Given the description of an element on the screen output the (x, y) to click on. 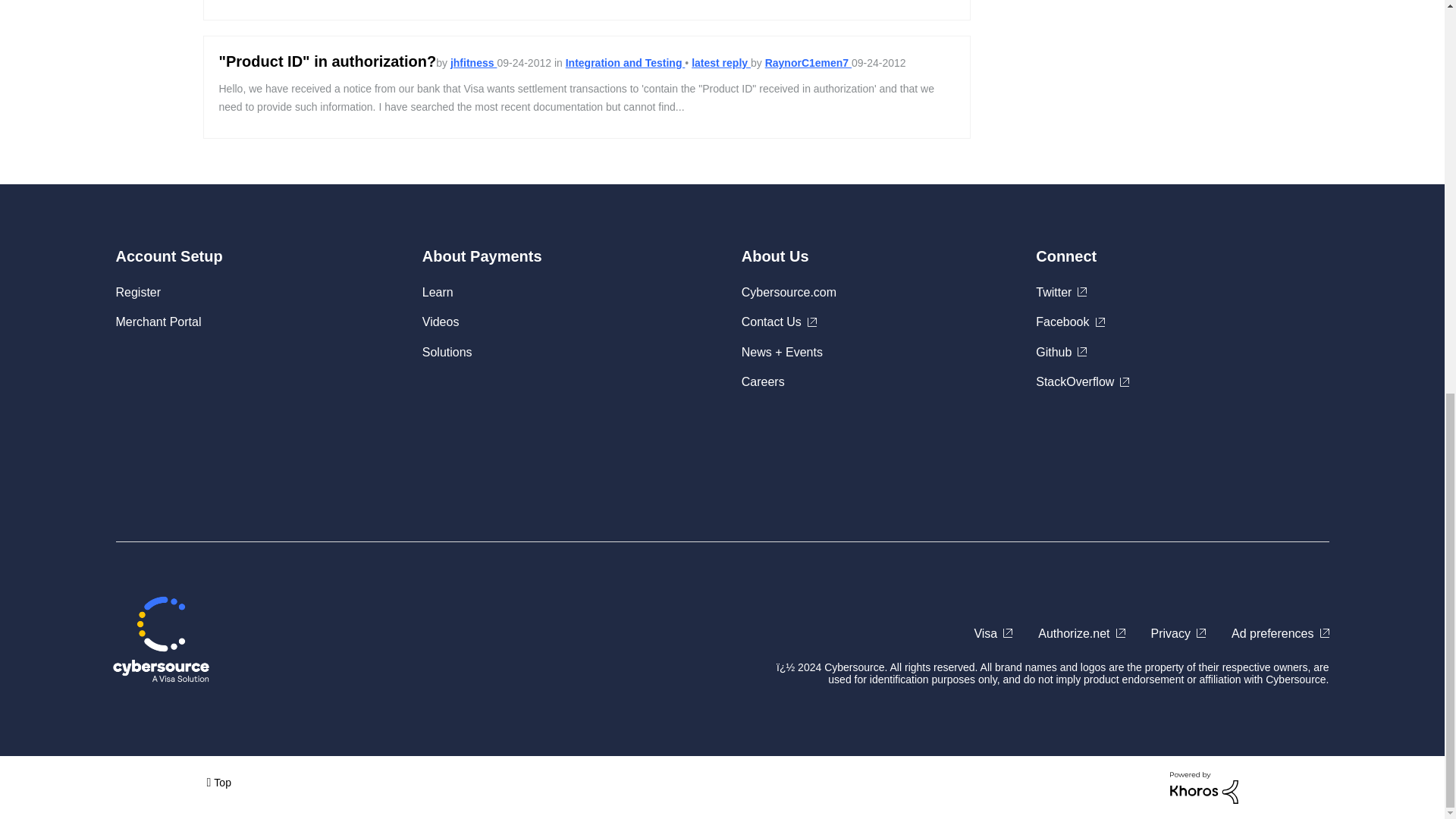
Top (218, 781)
Top (218, 781)
View post (721, 62)
View profile (808, 62)
View profile (472, 62)
